Given the description of an element on the screen output the (x, y) to click on. 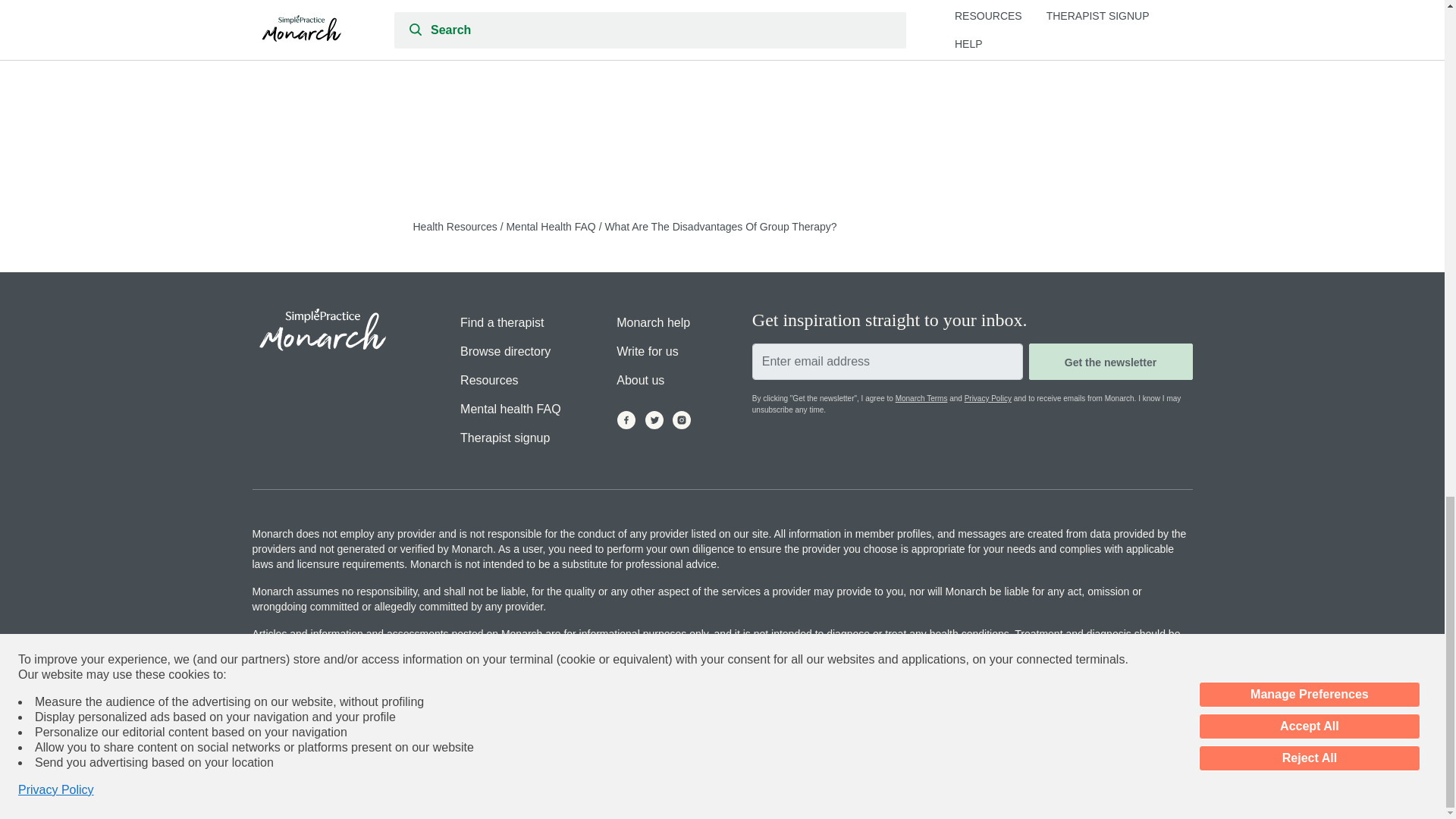
Resources (489, 380)
Therapist signup (505, 438)
Visit Twitter page (654, 419)
Write for us (646, 351)
Visit Instagram page (681, 419)
Visit Instagram page (681, 419)
About us (639, 380)
Browse directory (505, 351)
Mental health FAQ (510, 409)
Monarch (321, 331)
Health Resources (455, 226)
Visit Twitter page (654, 419)
Visit Facebook page (627, 419)
Mental Health FAQ (551, 226)
Monarch help (652, 322)
